Given the description of an element on the screen output the (x, y) to click on. 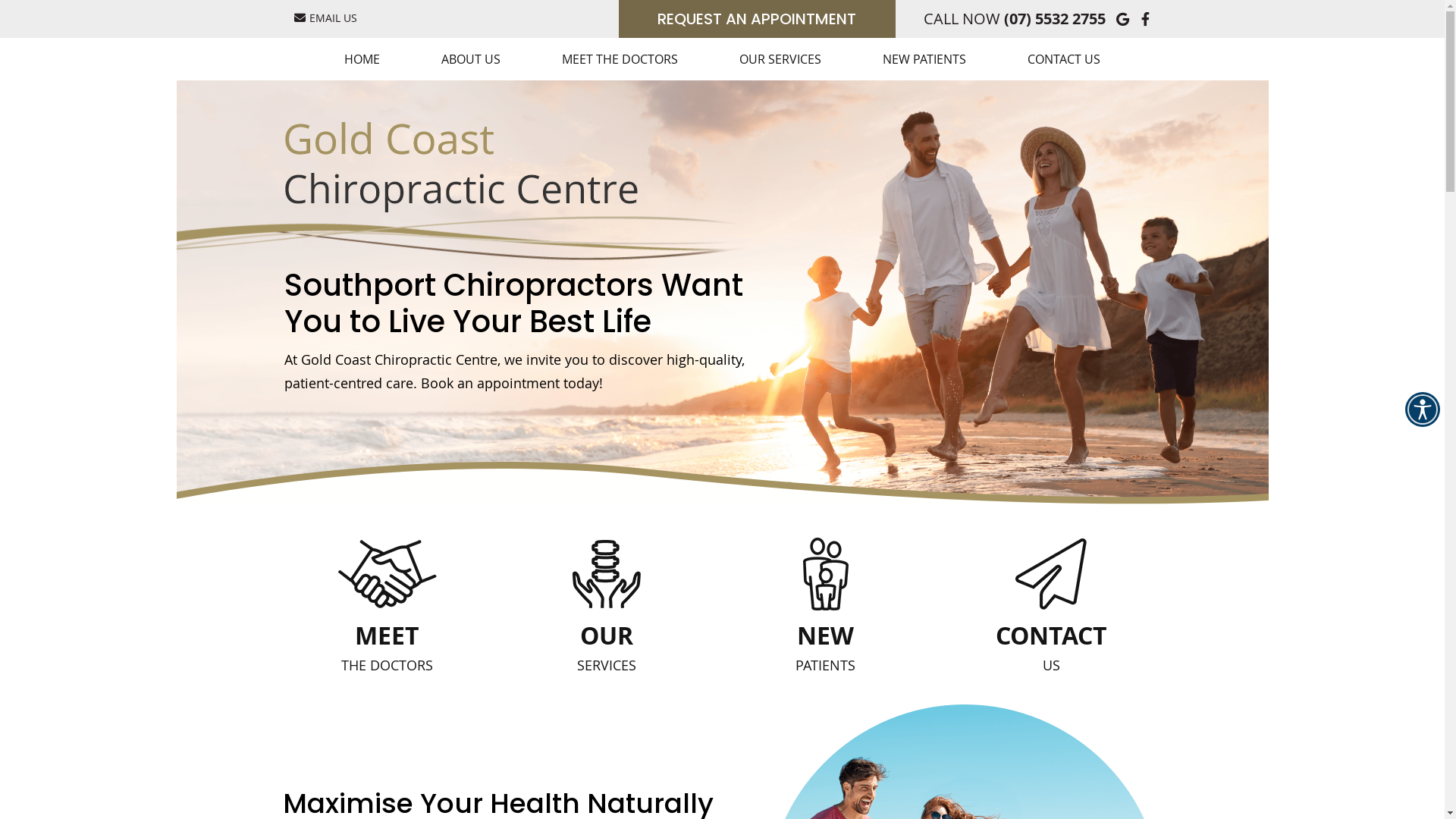
OUR
SERVICES Element type: text (605, 599)
MEET THE DOCTORS Element type: text (620, 59)
NEW PATIENTS Element type: text (924, 59)
EMAIL US Element type: text (325, 17)
MEET
THE DOCTORS Element type: text (387, 599)
Gold Coast Chiropractic Centre Element type: text (460, 209)
Facebook Social Button Element type: text (1146, 18)
OUR SERVICES Element type: text (780, 59)
ABOUT US Element type: text (471, 59)
Google Social Button Element type: text (1123, 18)
(07) 5532 2755 Element type: text (1054, 18)
NEW
PATIENTS Element type: text (825, 599)
HOME Element type: text (362, 59)
CONTACT
US Element type: text (1050, 599)
CONTACT US Element type: text (1063, 59)
REQUEST AN APPOINTMENT Element type: text (756, 18)
